Given the description of an element on the screen output the (x, y) to click on. 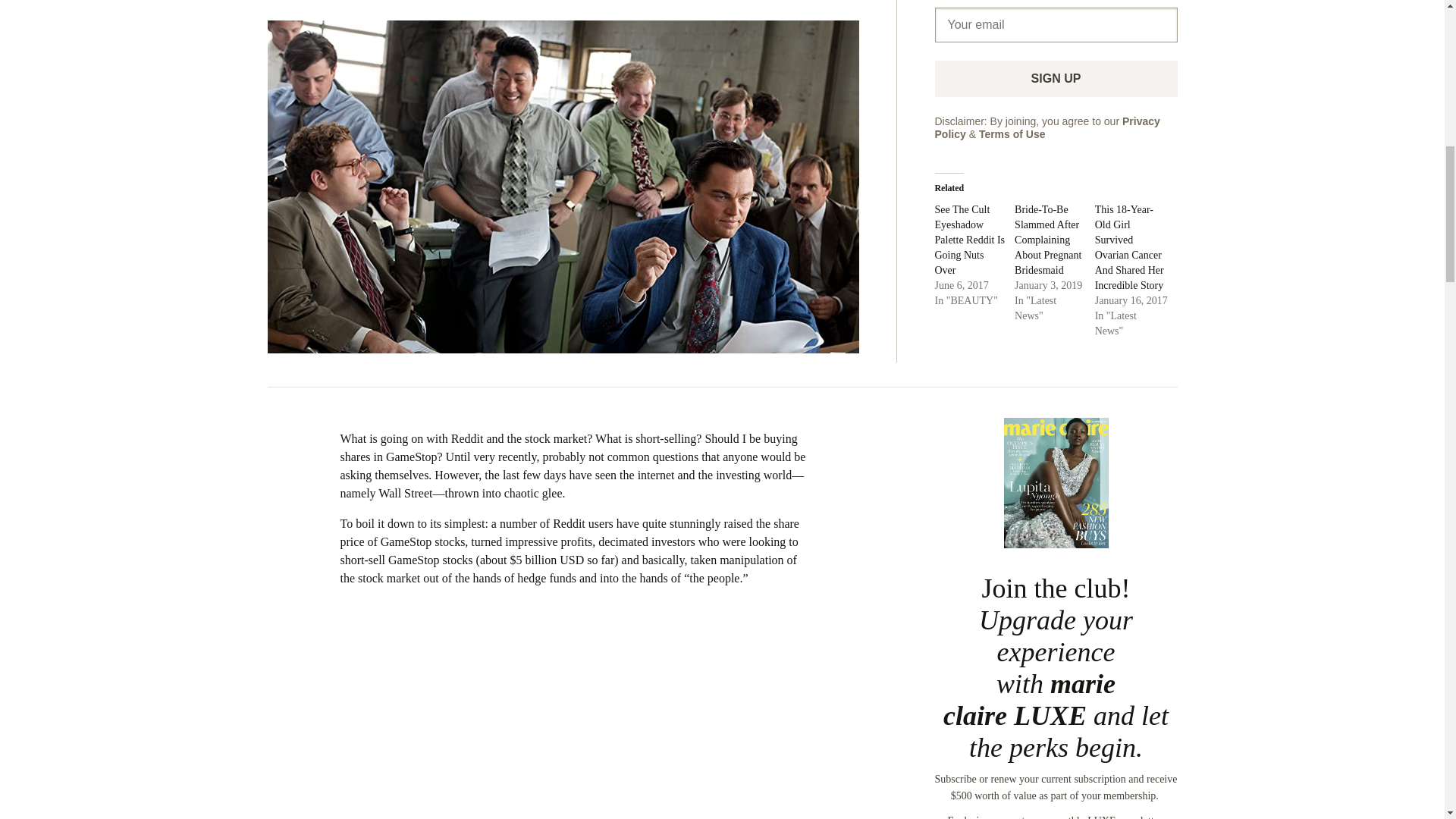
See The Cult Eyeshadow Palette Reddit Is Going Nuts Over (969, 239)
